Given the description of an element on the screen output the (x, y) to click on. 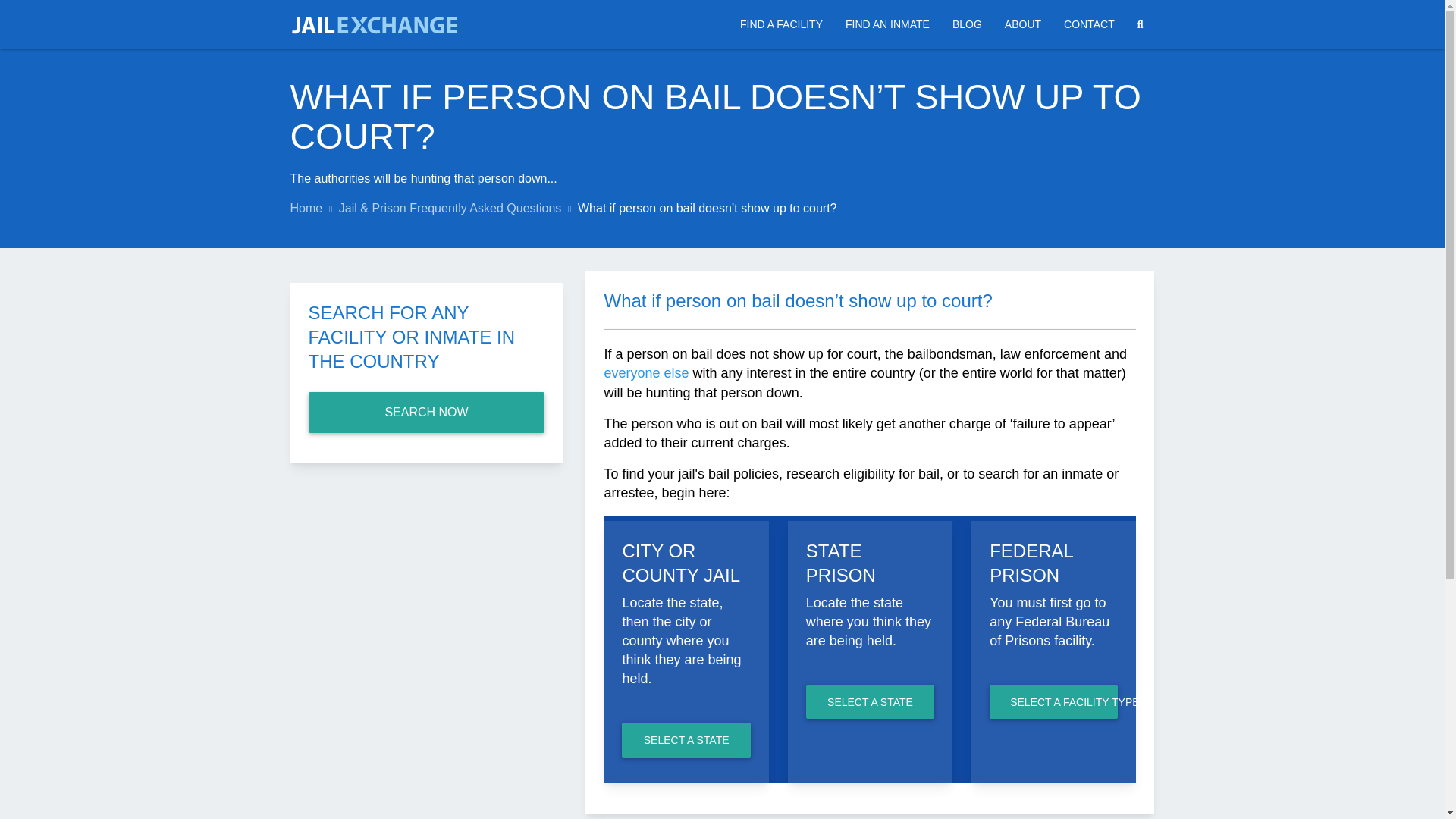
FIND A FACILITY (781, 24)
ABOUT (1022, 24)
SEARCH NOW (425, 412)
Home (305, 207)
FIND AN INMATE (887, 24)
CONTACT (1088, 24)
BLOG (966, 24)
